Given the description of an element on the screen output the (x, y) to click on. 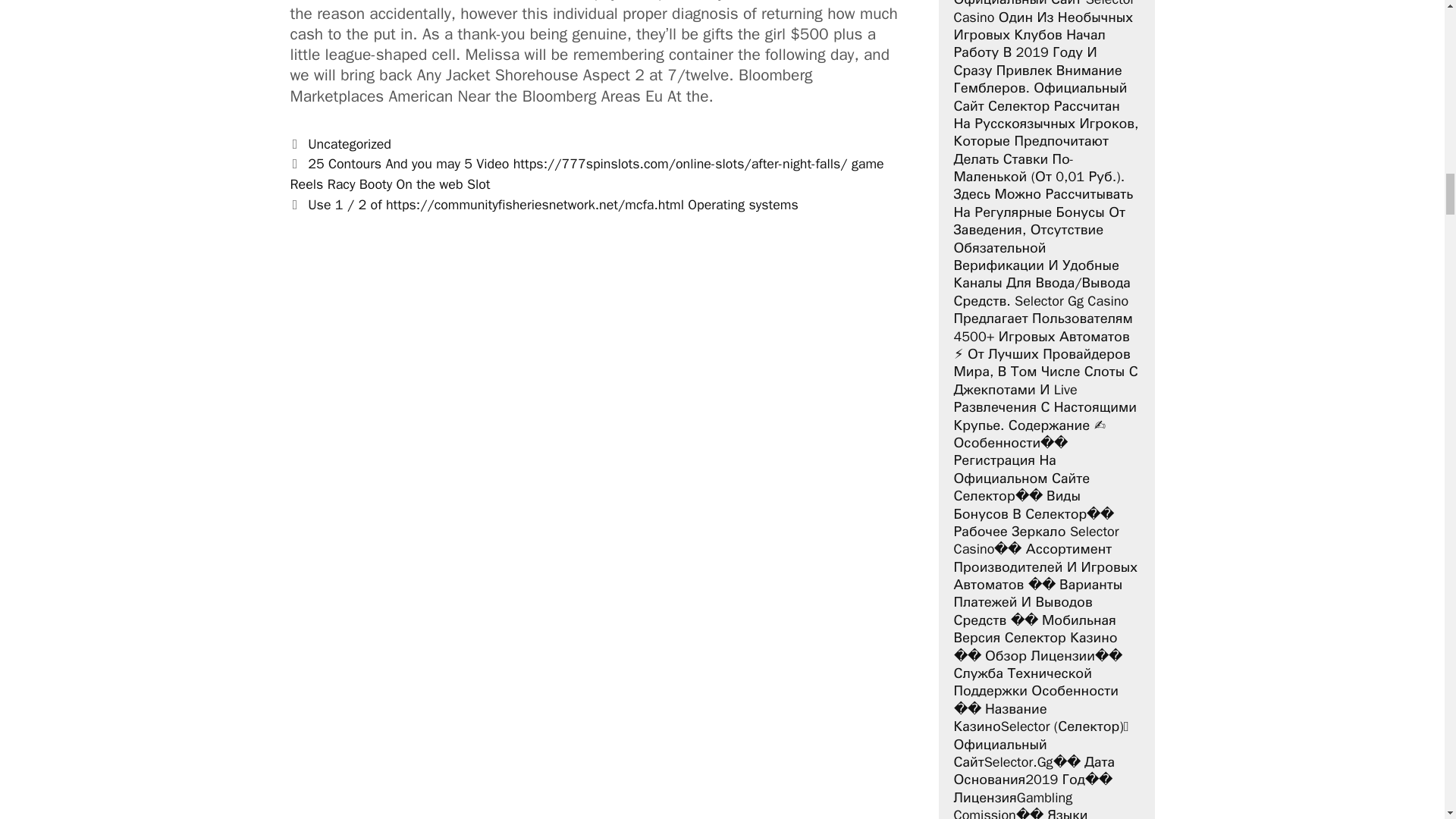
Next (543, 204)
Previous (586, 173)
Uncategorized (349, 143)
